Given the description of an element on the screen output the (x, y) to click on. 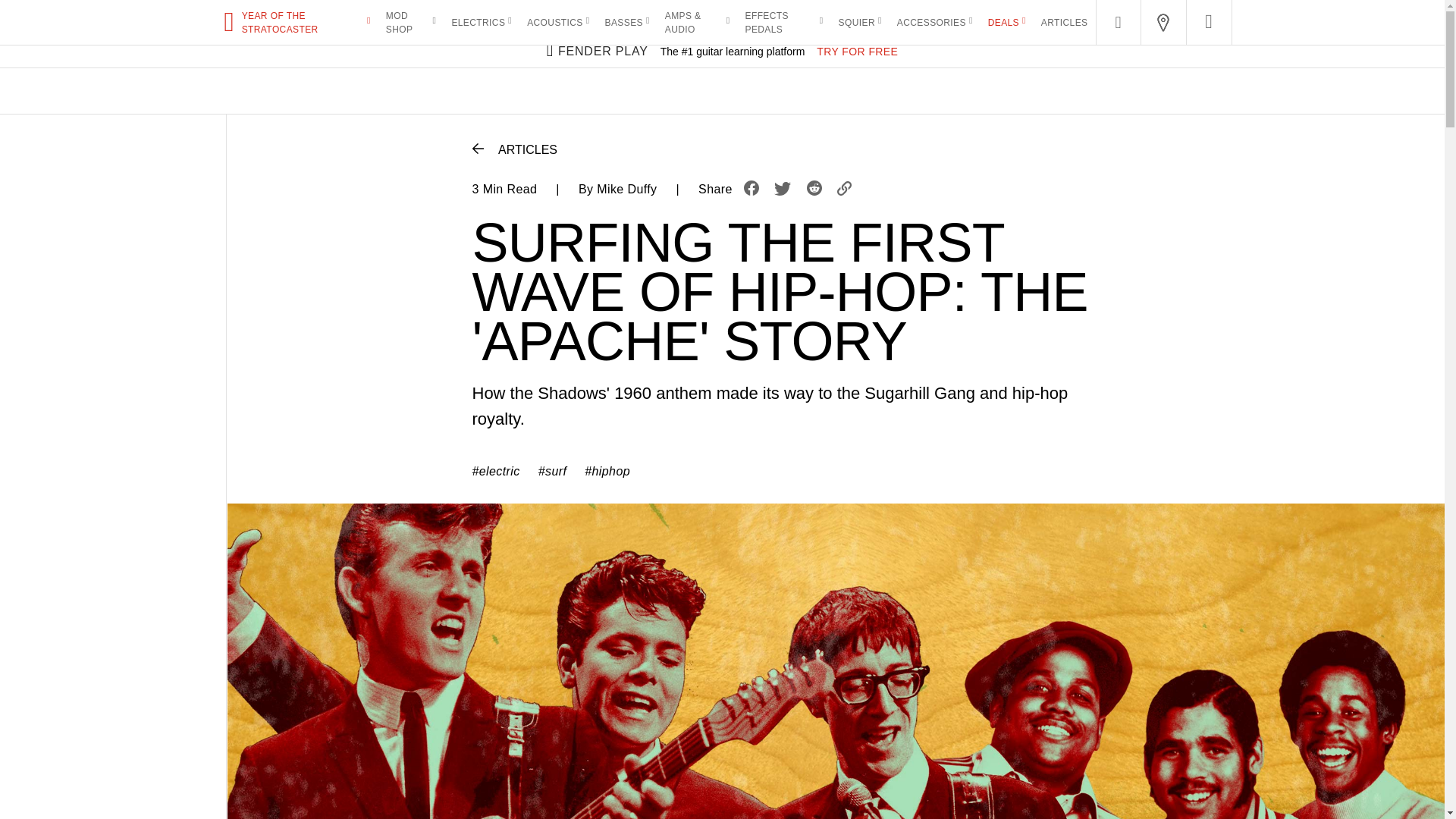
EFFECTS PEDALS (779, 22)
ARTICLES (514, 149)
YEAR OF THE STRATOCASTER (302, 22)
TRY FOR FREE (851, 50)
ARTICLES (1064, 21)
SIGN IN (1377, 16)
BEGINNERS (829, 16)
Copy URL to Clipboard (844, 189)
BASSES (624, 21)
MOD SHOP (407, 22)
